Given the description of an element on the screen output the (x, y) to click on. 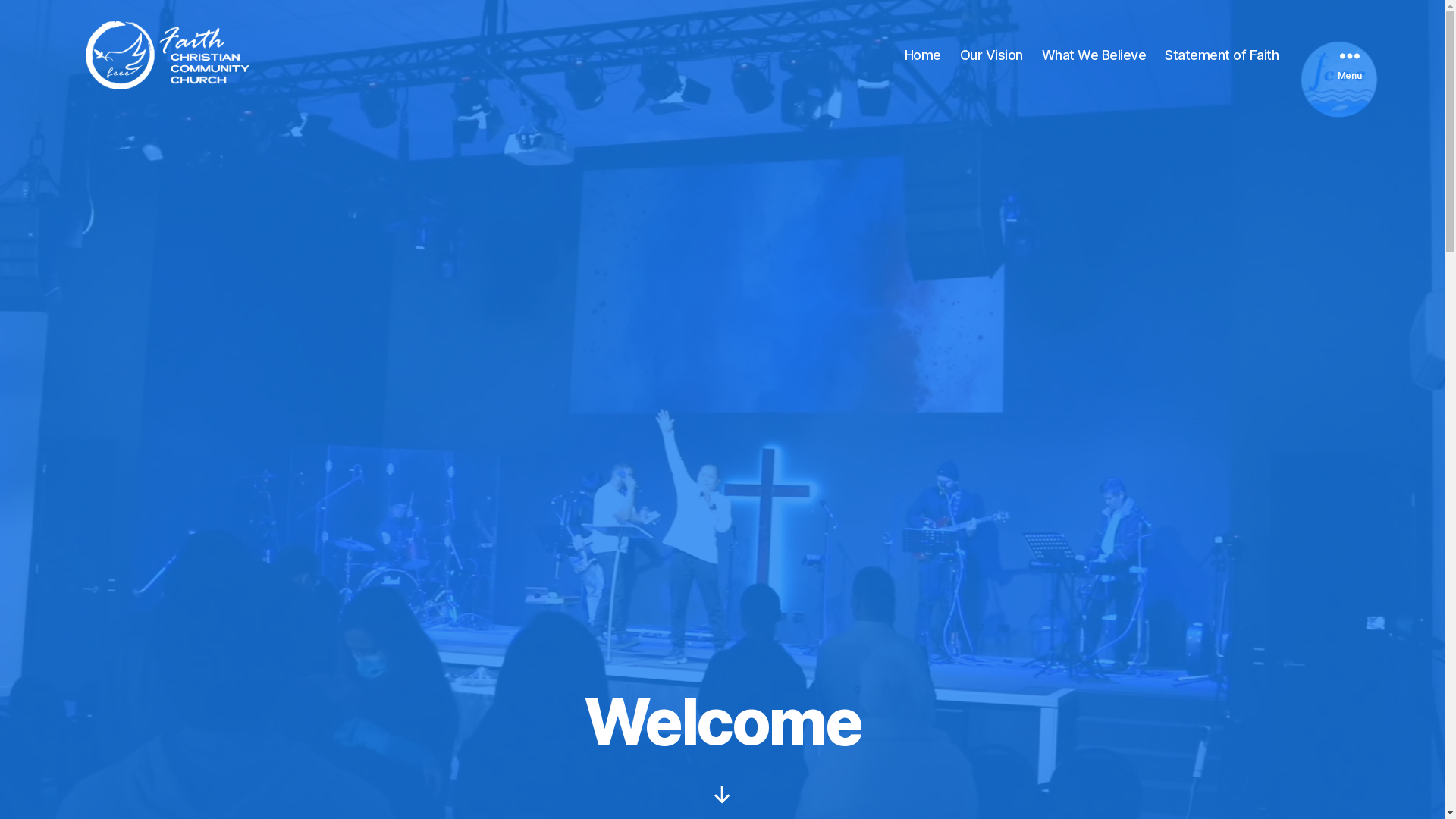
What We Believe Element type: text (1093, 55)
Our Vision Element type: text (991, 55)
Scroll Down Element type: text (722, 794)
Statement of Faith Element type: text (1221, 55)
Menu Element type: text (1348, 55)
Home Element type: text (922, 55)
